Given the description of an element on the screen output the (x, y) to click on. 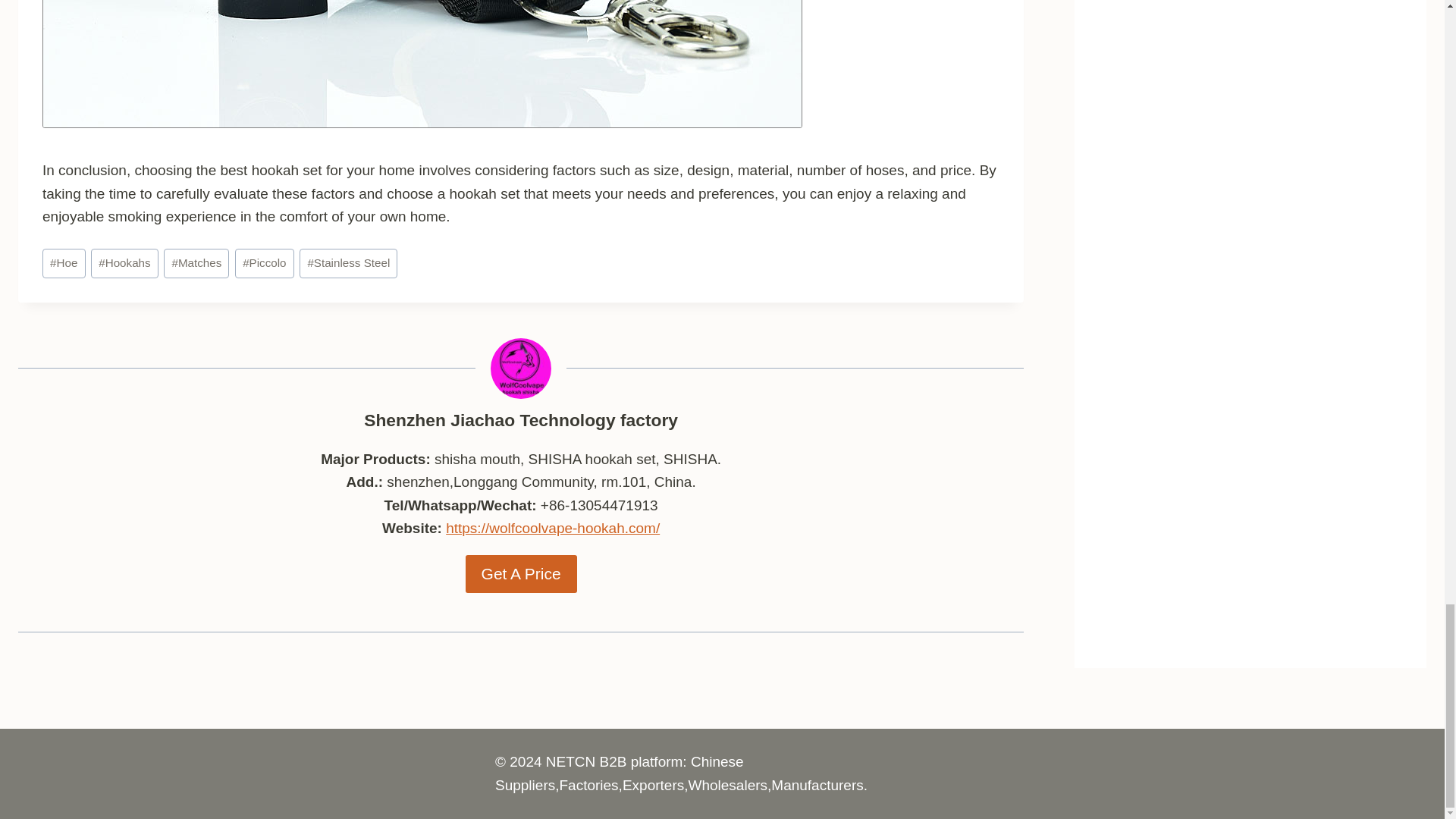
Matches (195, 262)
Hookahs (124, 262)
Stainless Steel (348, 262)
Hoe (63, 262)
Piccolo (264, 262)
